Given the description of an element on the screen output the (x, y) to click on. 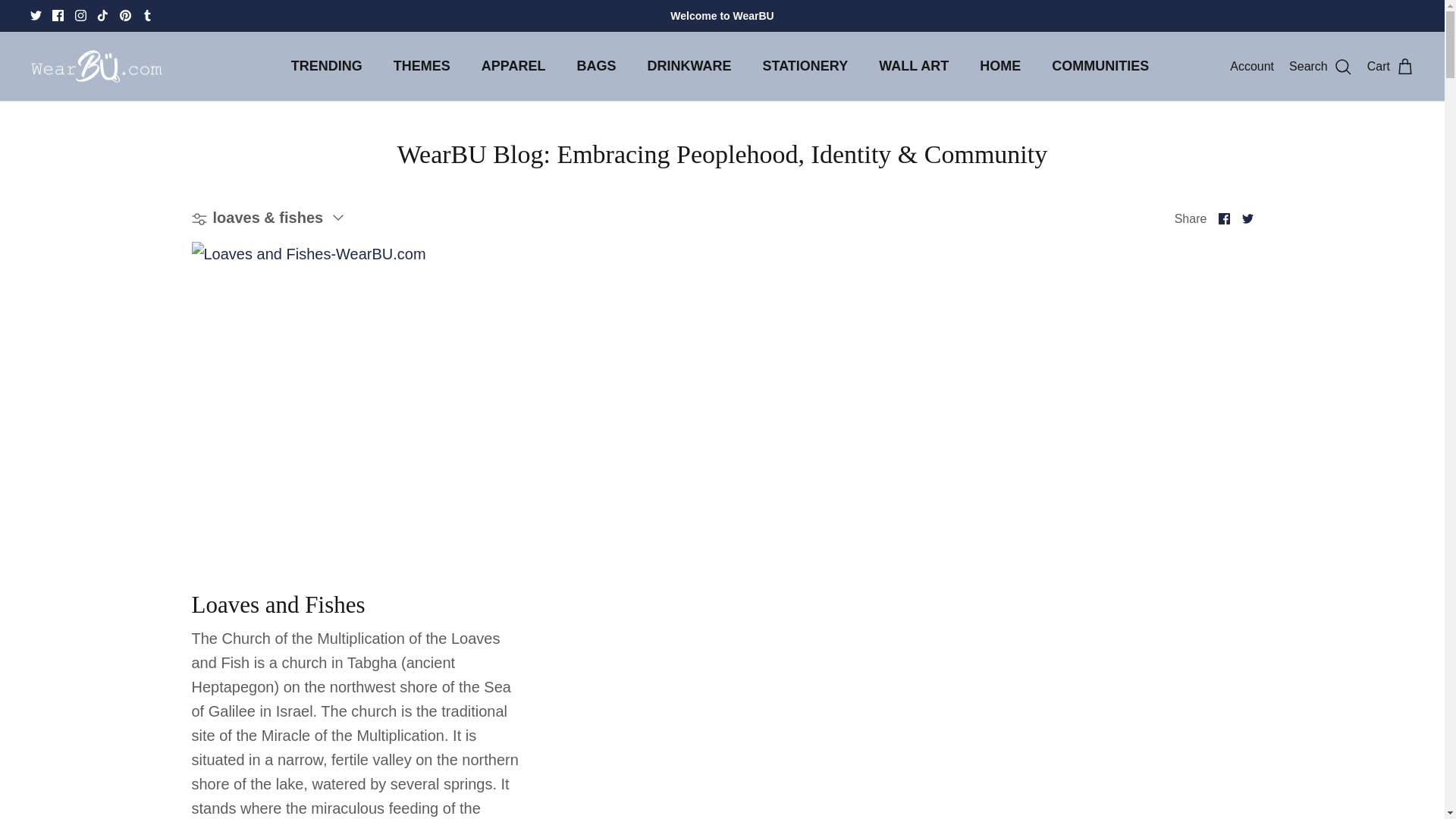
STATIONERY (805, 66)
Facebook (58, 15)
HOME (999, 66)
WALL ART (913, 66)
Facebook (1224, 218)
Account (1252, 66)
Pinterest (125, 15)
Instagram (80, 15)
TRENDING (326, 66)
Facebook (58, 15)
